Given the description of an element on the screen output the (x, y) to click on. 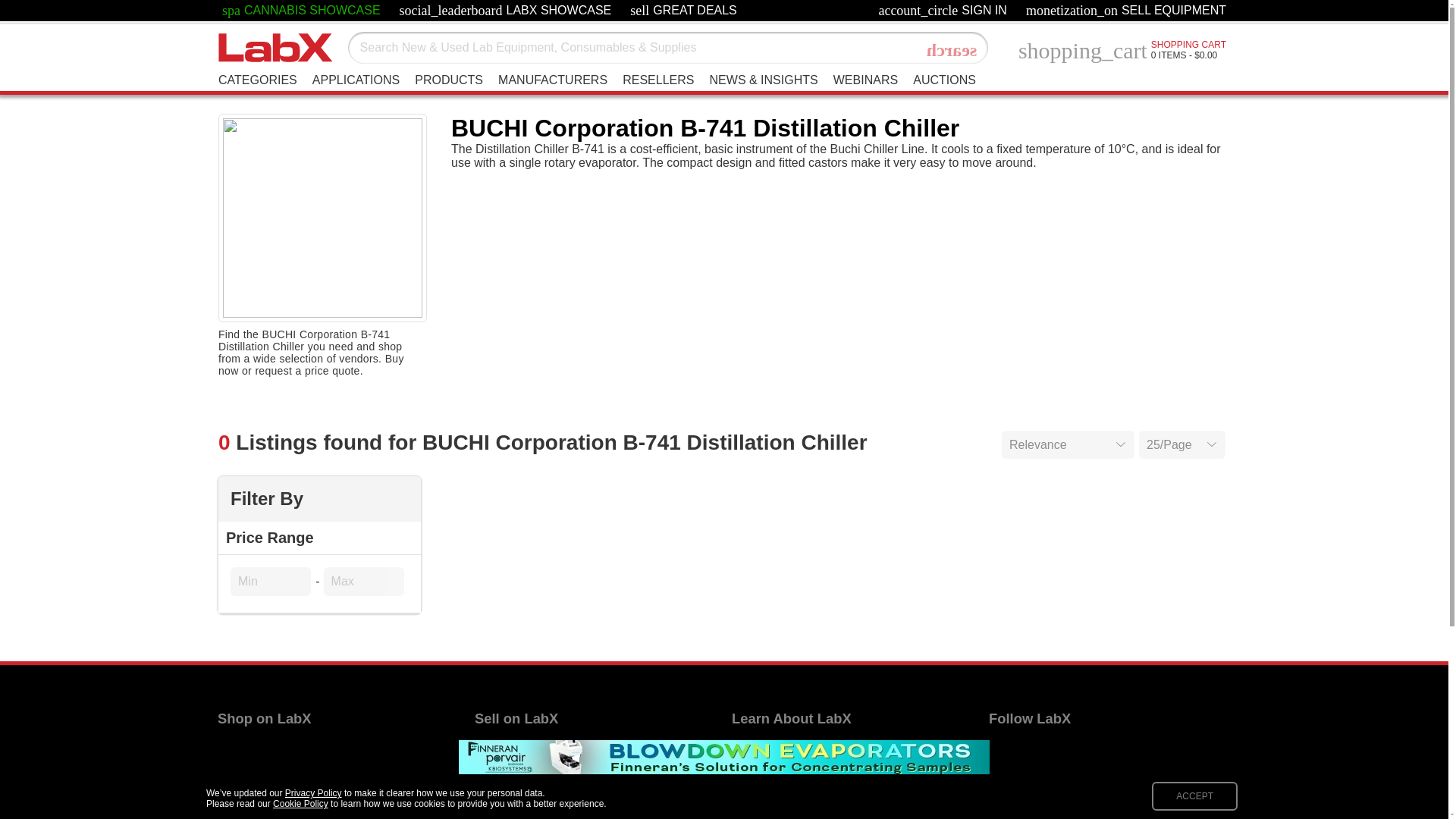
MANUFACTURERS (552, 80)
Terms and Conditions (790, 792)
Advertise with LabX (527, 771)
PRODUCTS (448, 80)
Privacy Policy (770, 812)
search (951, 50)
Sell Your Equipment (528, 749)
Help (744, 749)
My Account (505, 792)
WEBINARS (865, 80)
